Given the description of an element on the screen output the (x, y) to click on. 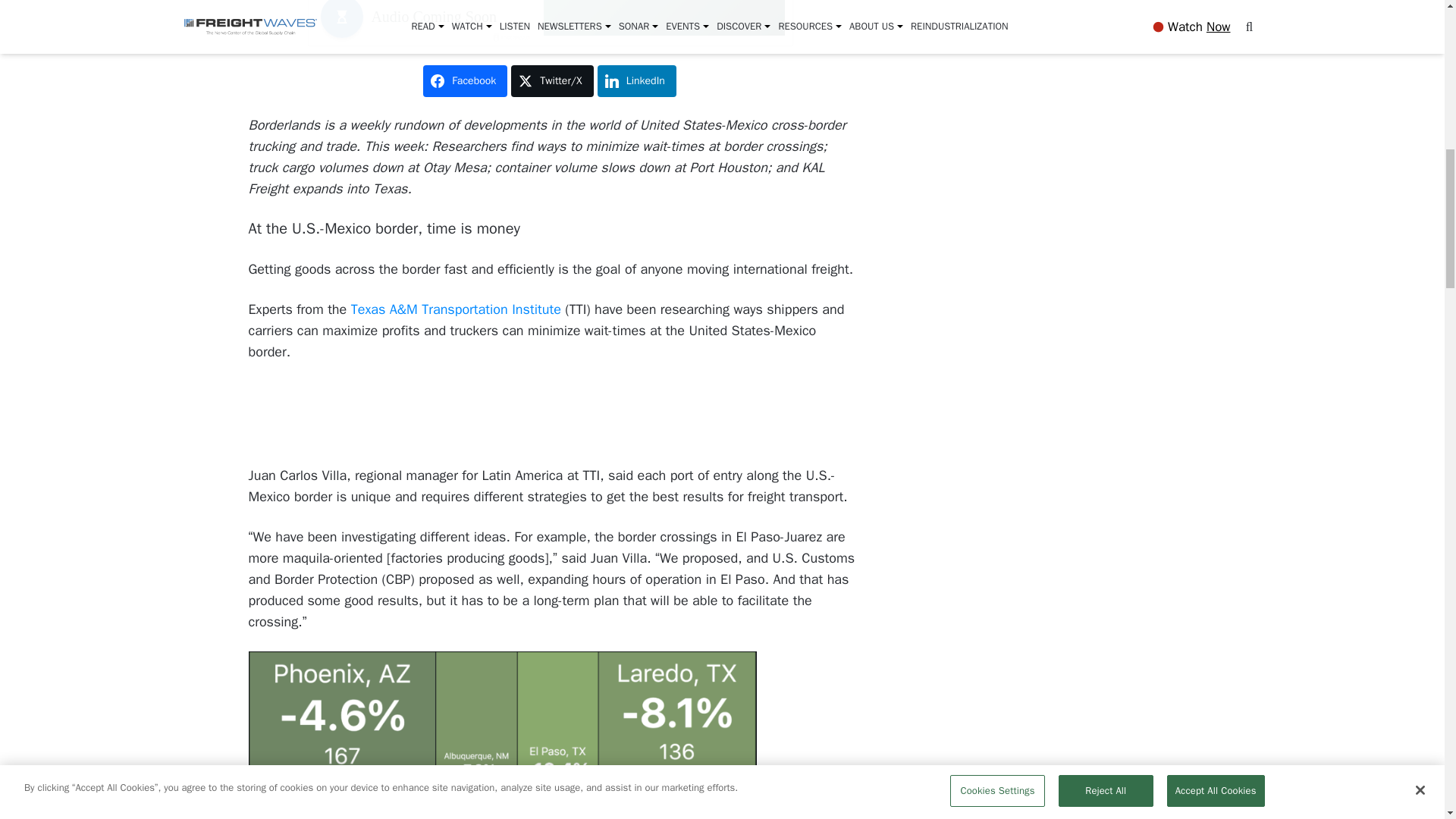
Share on Facebook (464, 81)
3rd party ad content (552, 415)
Audio Article  (551, 23)
Share on LinkedIn (636, 81)
3rd party ad content (1106, 575)
